Given the description of an element on the screen output the (x, y) to click on. 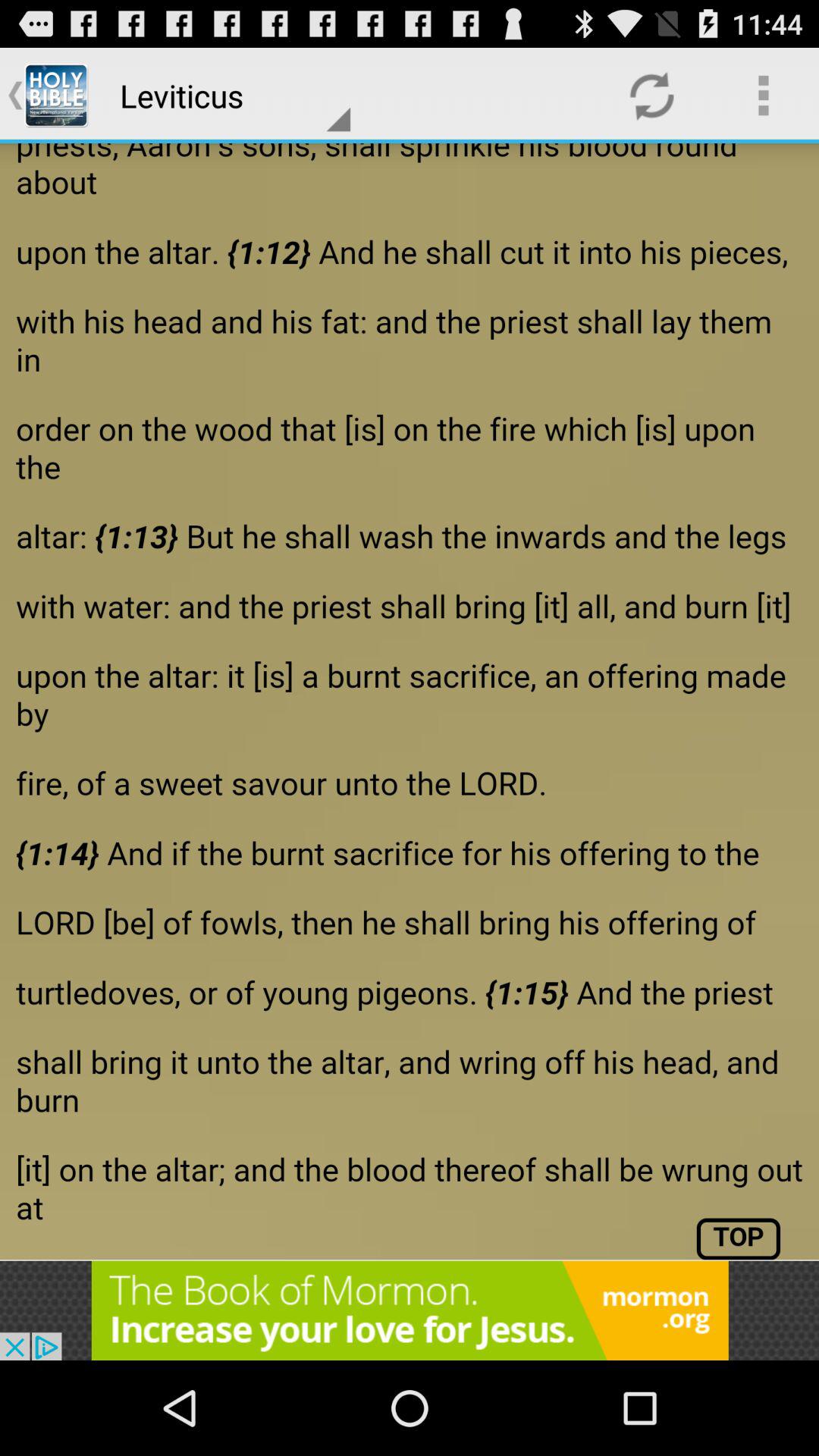
file (409, 701)
